Given the description of an element on the screen output the (x, y) to click on. 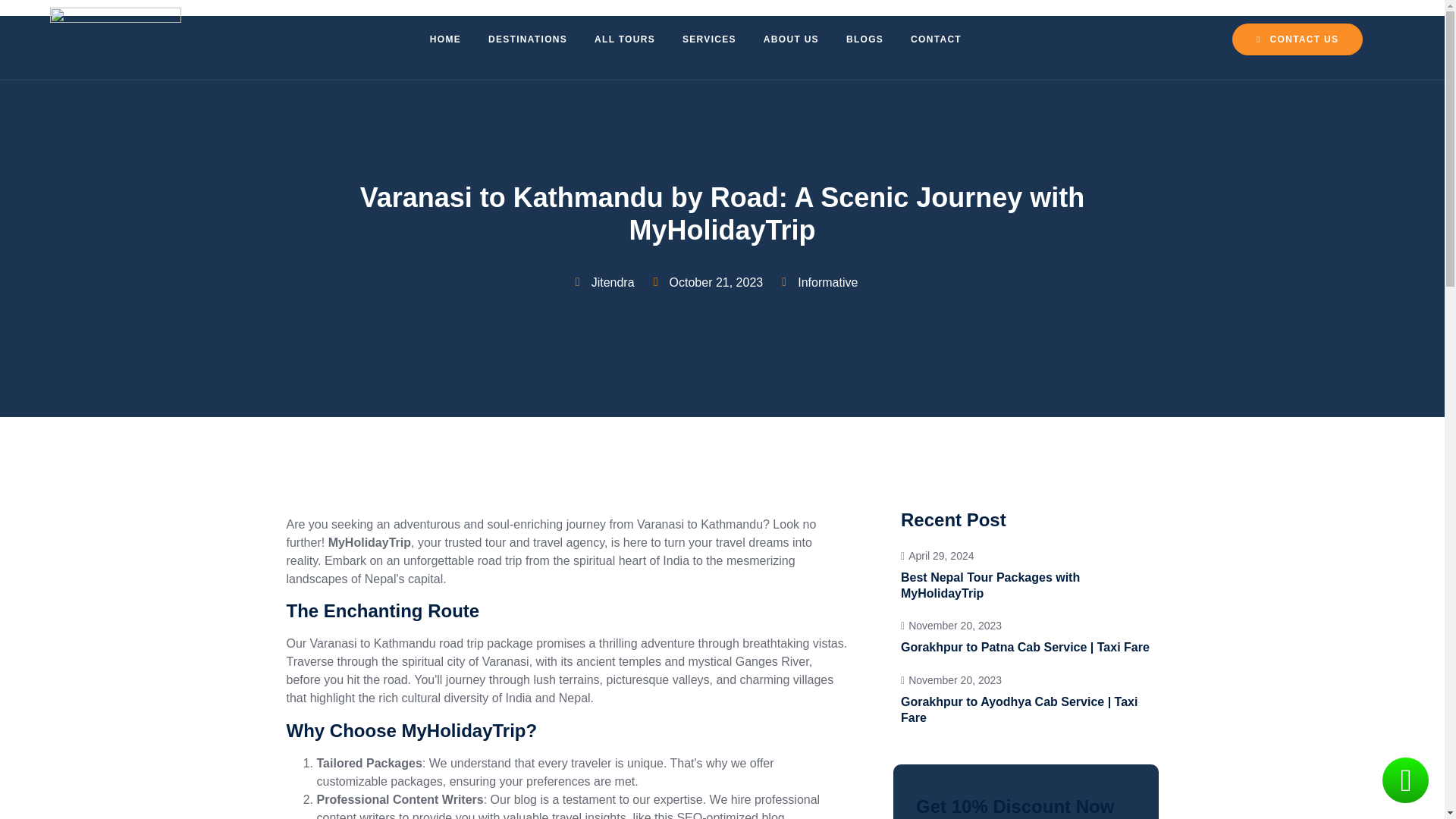
ABOUT US (1026, 574)
CONTACT (790, 39)
HOME (935, 39)
DESTINATIONS (445, 39)
SERVICES (527, 39)
BLOGS (708, 39)
ALL TOURS (864, 39)
CONTACT US (624, 39)
